Given the description of an element on the screen output the (x, y) to click on. 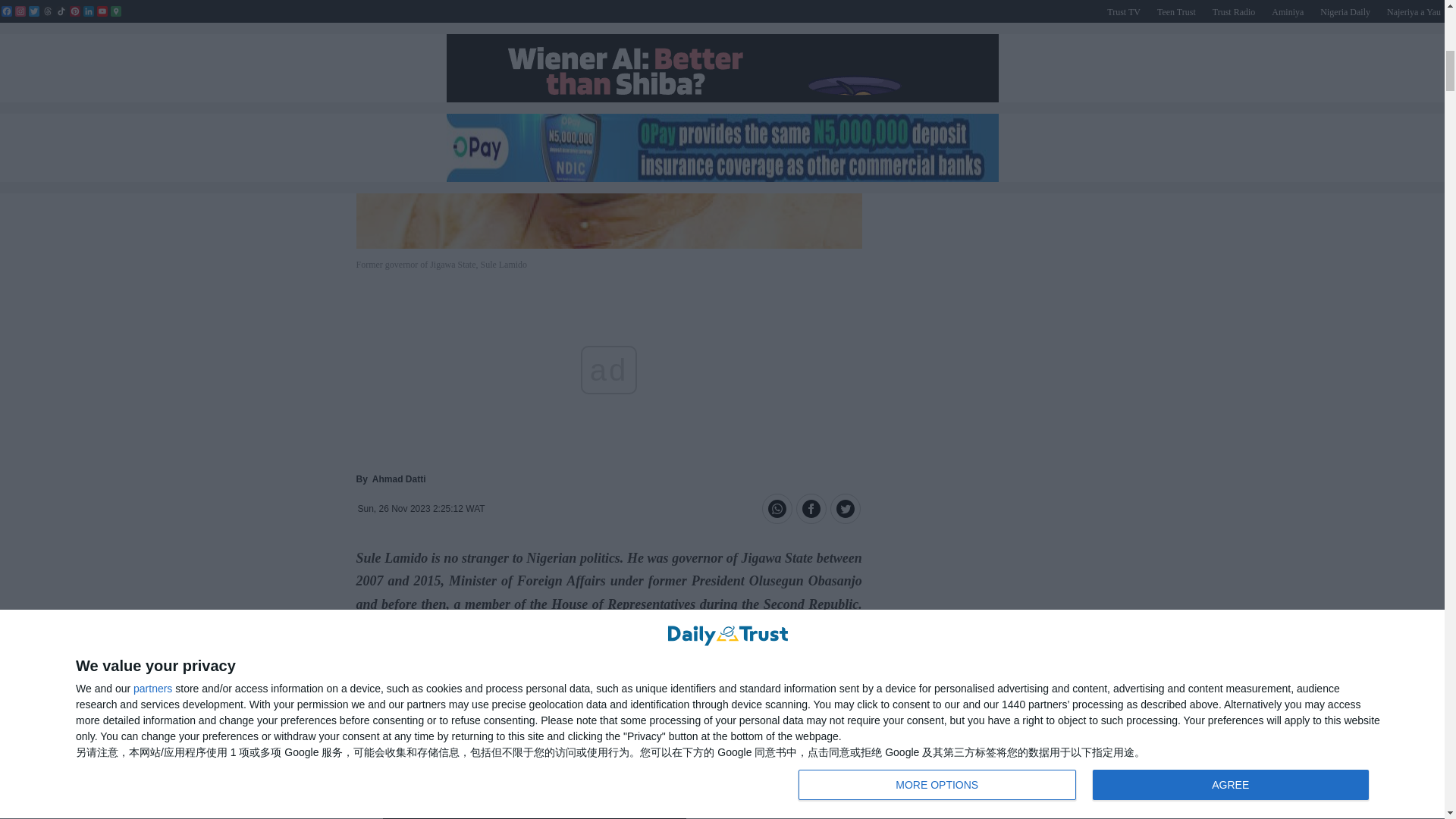
Traveling across Quang Binh to stunning cinematic locations (608, 786)
